Given the description of an element on the screen output the (x, y) to click on. 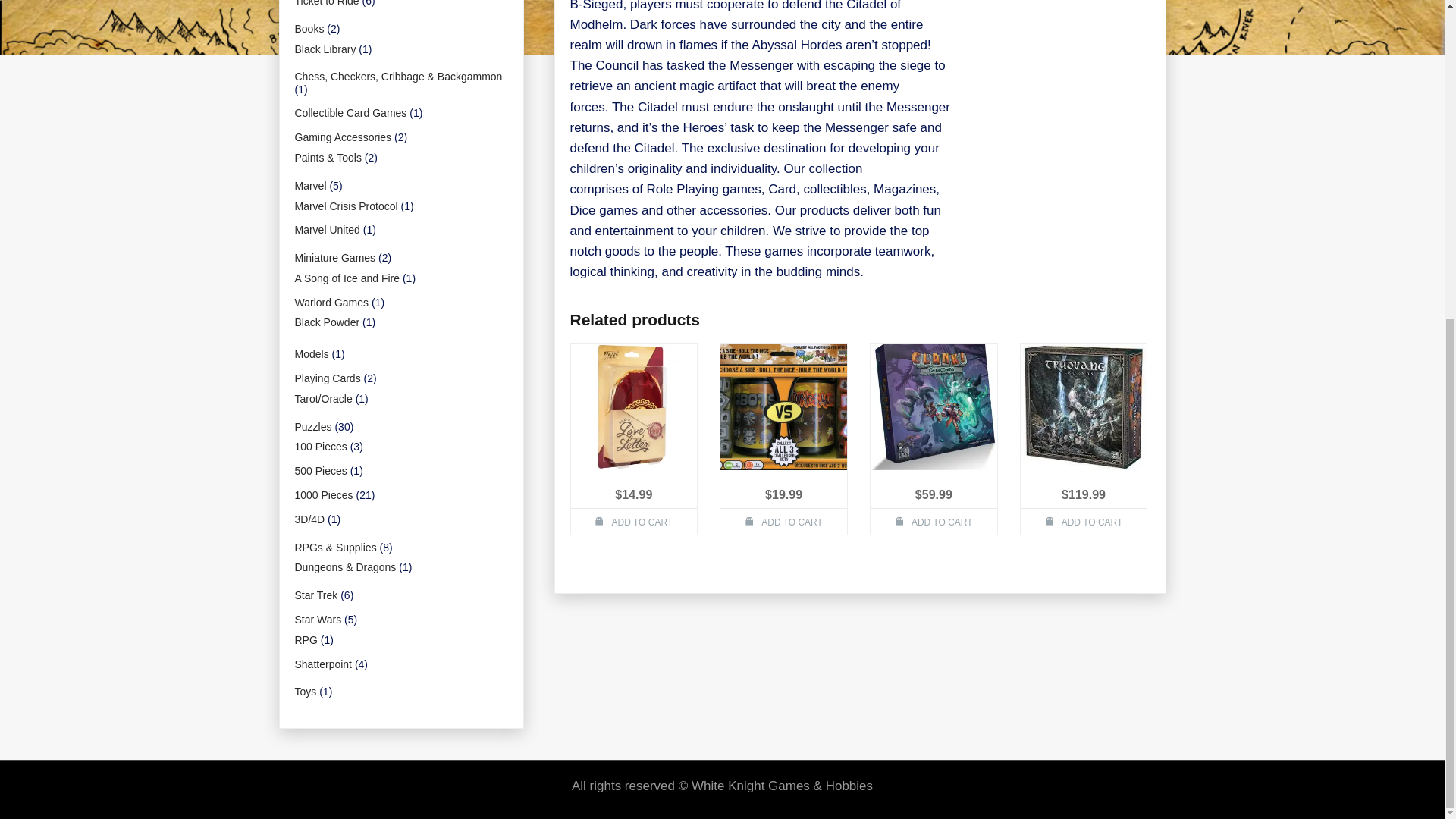
ADD TO CART (933, 520)
ADD TO CART (783, 520)
ADD TO CART (633, 520)
